Given the description of an element on the screen output the (x, y) to click on. 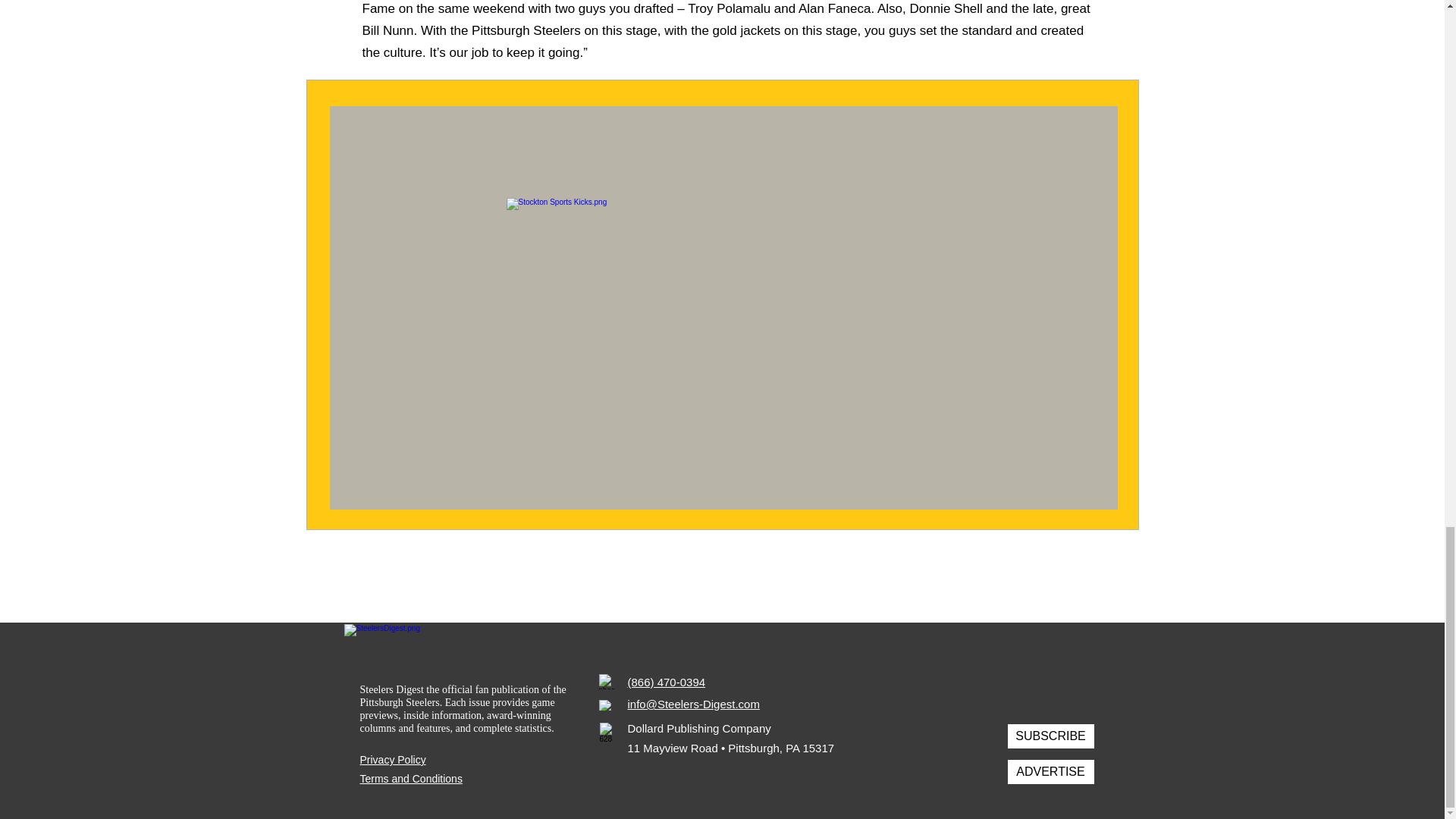
Privacy Policy (392, 759)
SUBSCRIBE (1050, 735)
Terms and Conditions (410, 778)
